Given the description of an element on the screen output the (x, y) to click on. 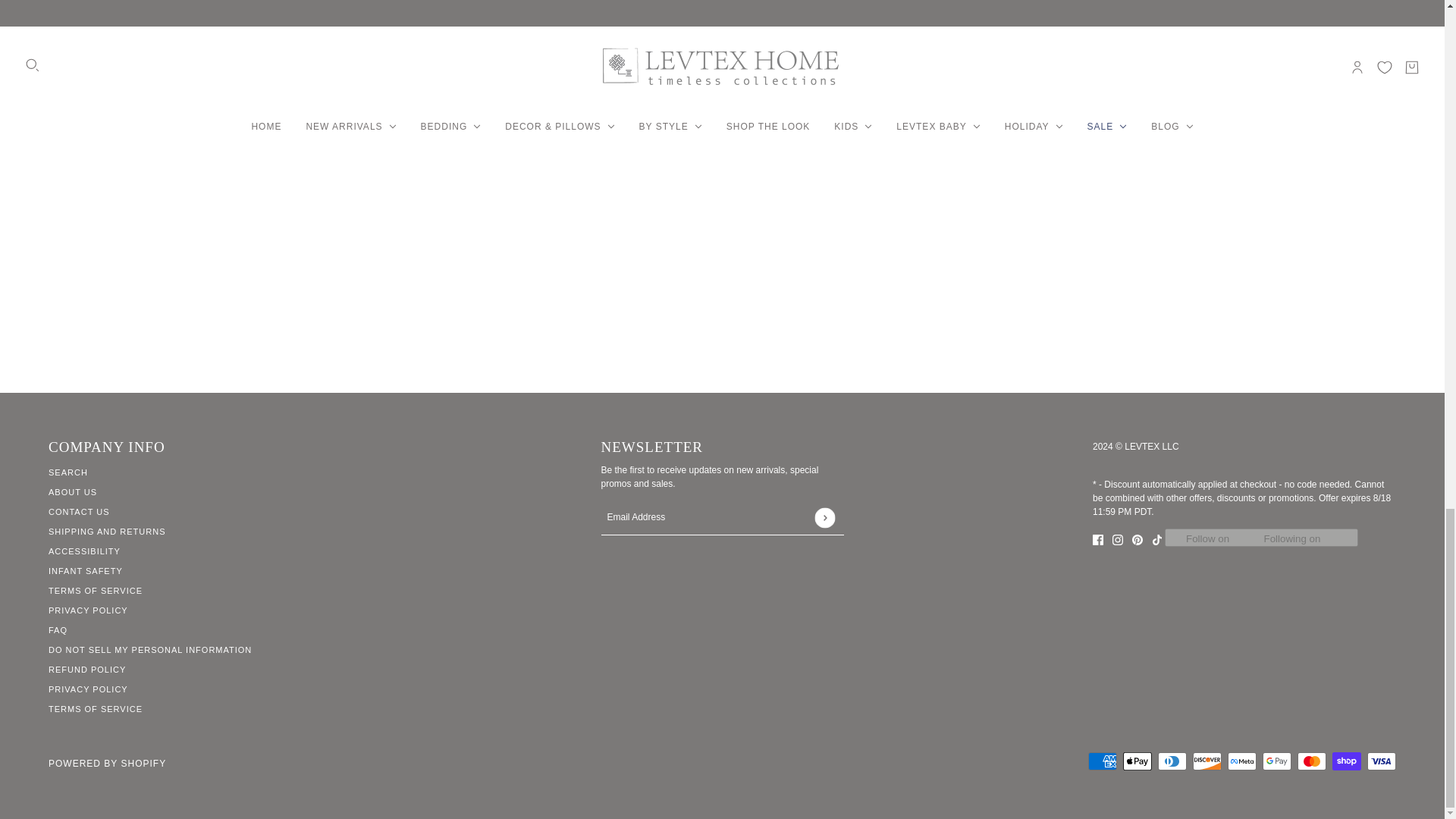
Shipping And Returns (106, 531)
Terms Of Service (95, 590)
Privacy policy (88, 688)
Contact Us (79, 511)
About Us (72, 491)
Do Not Sell My Personal Information (149, 649)
Infant Safety (85, 570)
Terms of service (95, 708)
Accessibility (84, 551)
Refund policy (86, 669)
